Given the description of an element on the screen output the (x, y) to click on. 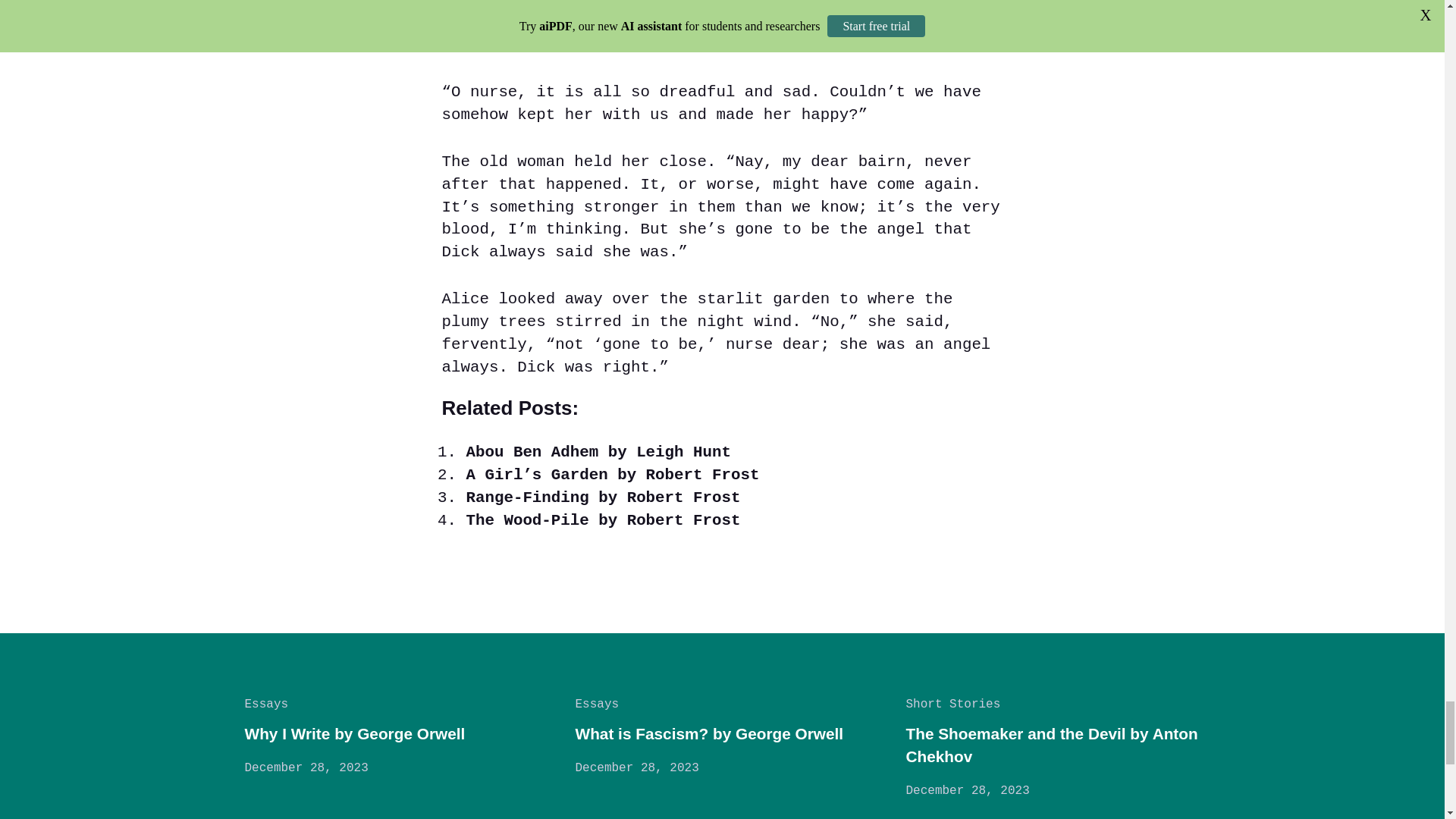
Range-Finding by Robert Frost (602, 497)
Abou Ben Adhem by Leigh Hunt (597, 452)
The Wood-Pile by Robert Frost (602, 520)
